Given the description of an element on the screen output the (x, y) to click on. 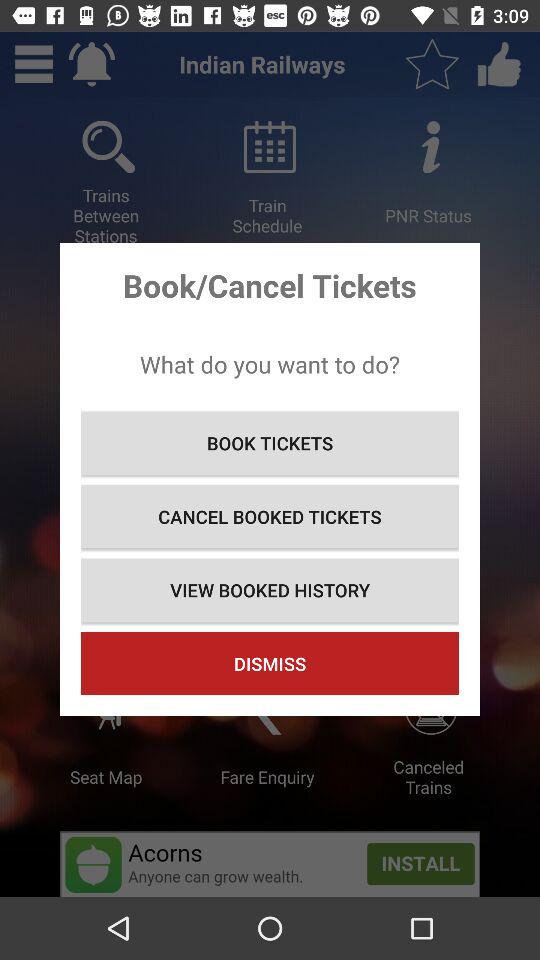
open icon at the bottom (270, 663)
